Given the description of an element on the screen output the (x, y) to click on. 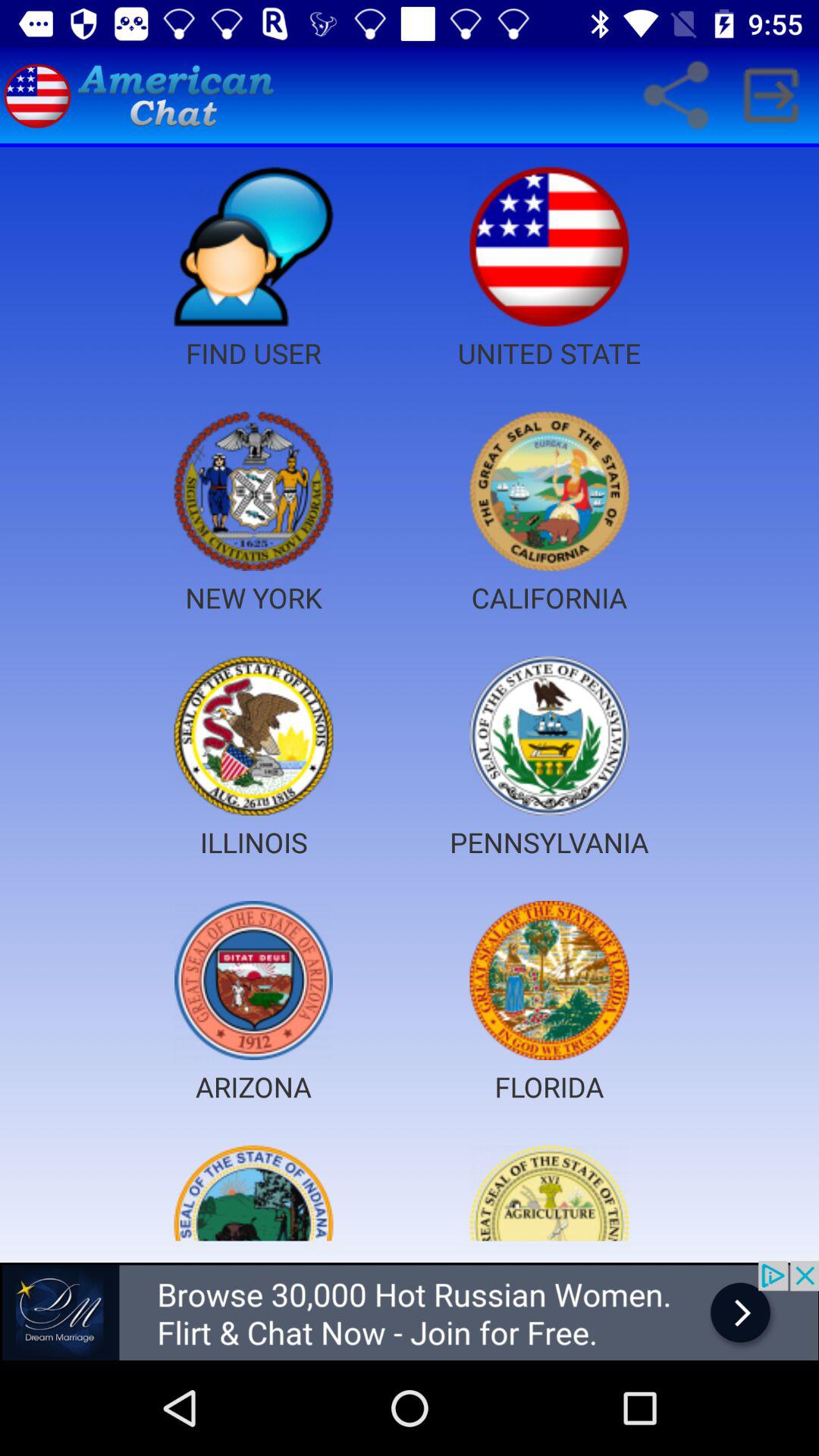
click on share (675, 95)
select image above text florida (549, 980)
click on the image above new york (253, 491)
select image on top of the text california (549, 491)
click on symbol which is right hand side of share icon (771, 95)
